Given the description of an element on the screen output the (x, y) to click on. 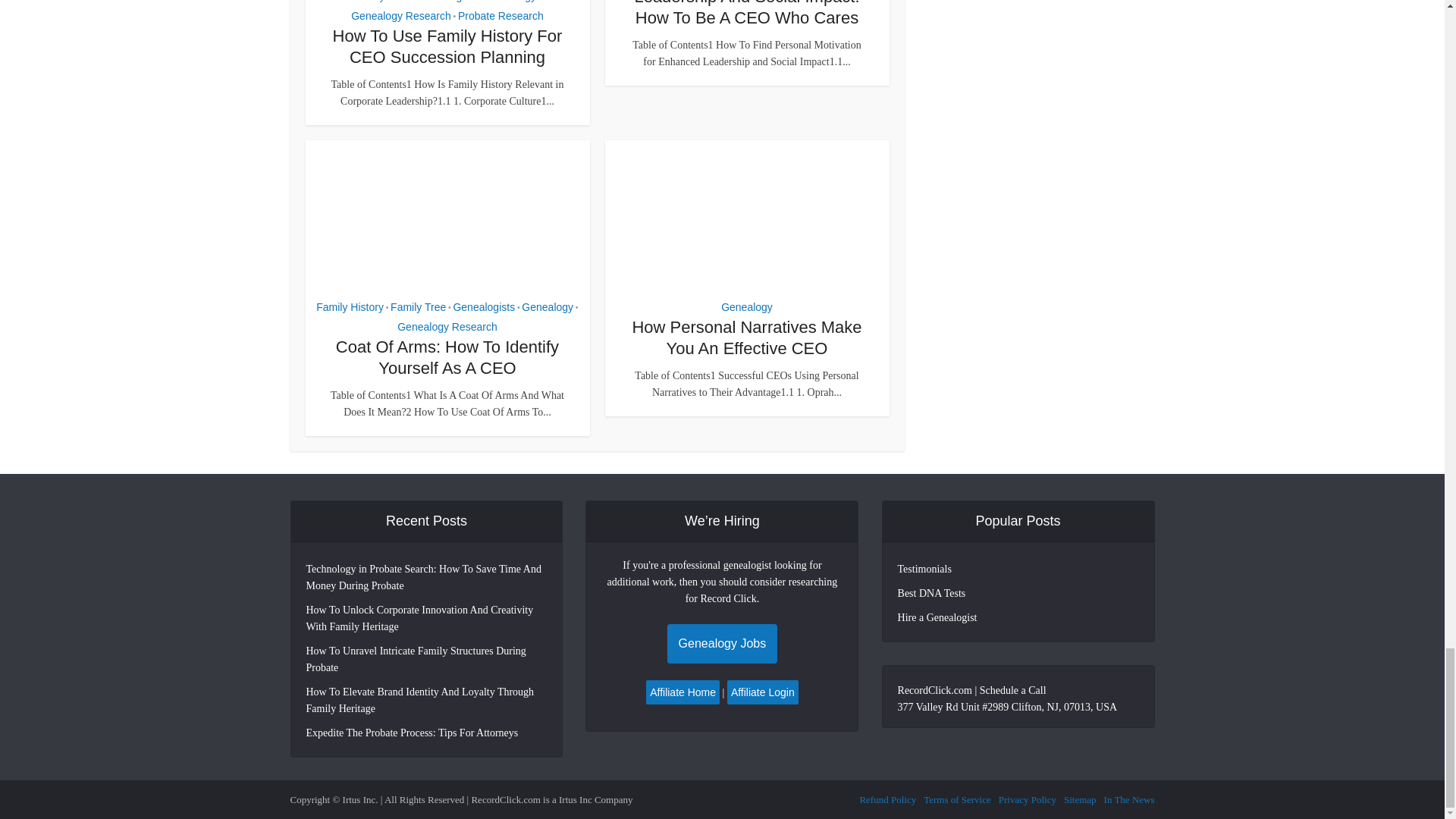
Coat Of Arms: How To Identify Yourself As A CEO (447, 357)
Leadership And Social Impact: How To Be A CEO Who Cares (746, 13)
How To Use Family History For CEO Succession Planning (447, 46)
How Personal Narratives Make You An Effective CEO (746, 337)
